Given the description of an element on the screen output the (x, y) to click on. 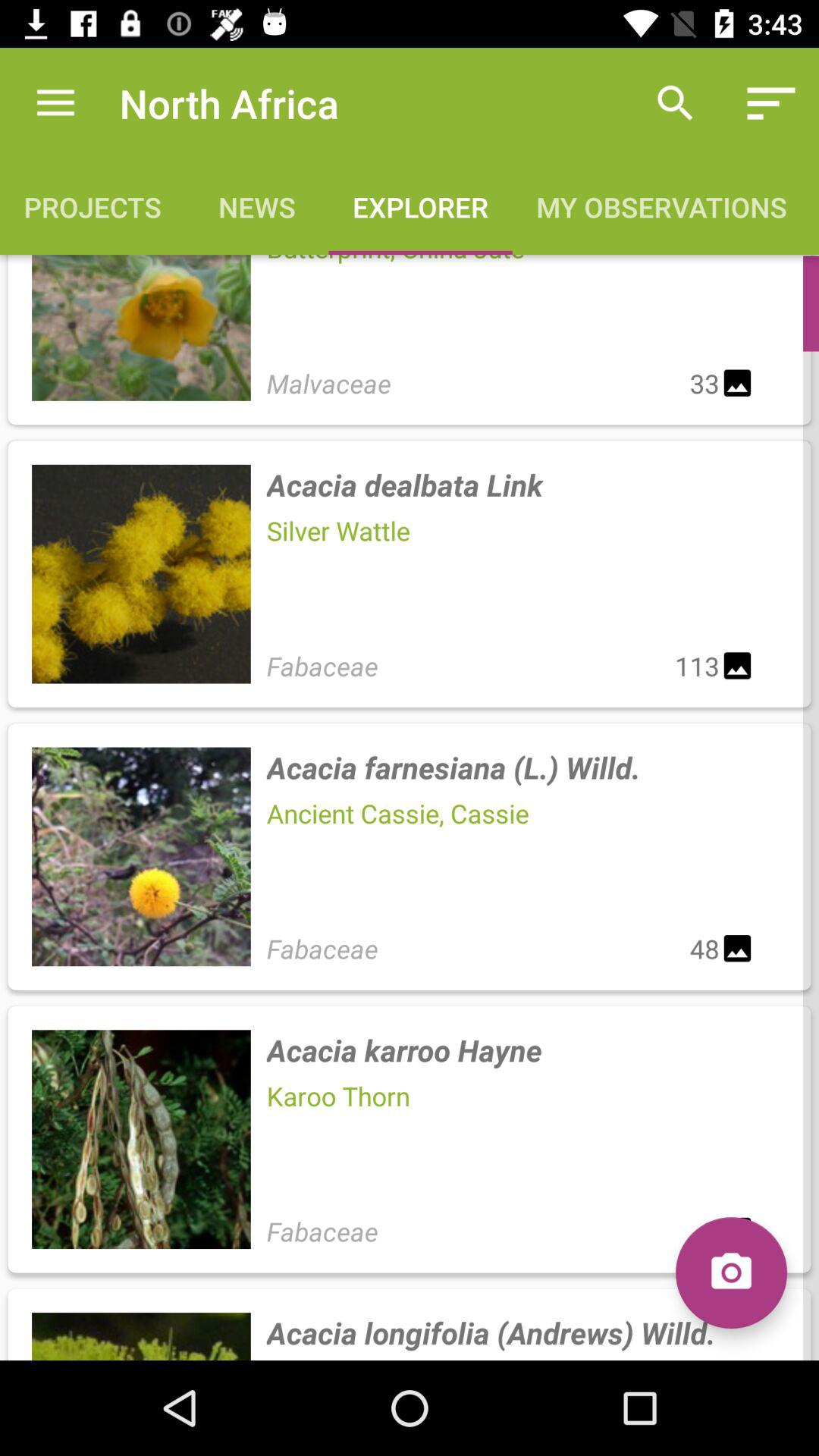
press item above the projects (55, 103)
